Given the description of an element on the screen output the (x, y) to click on. 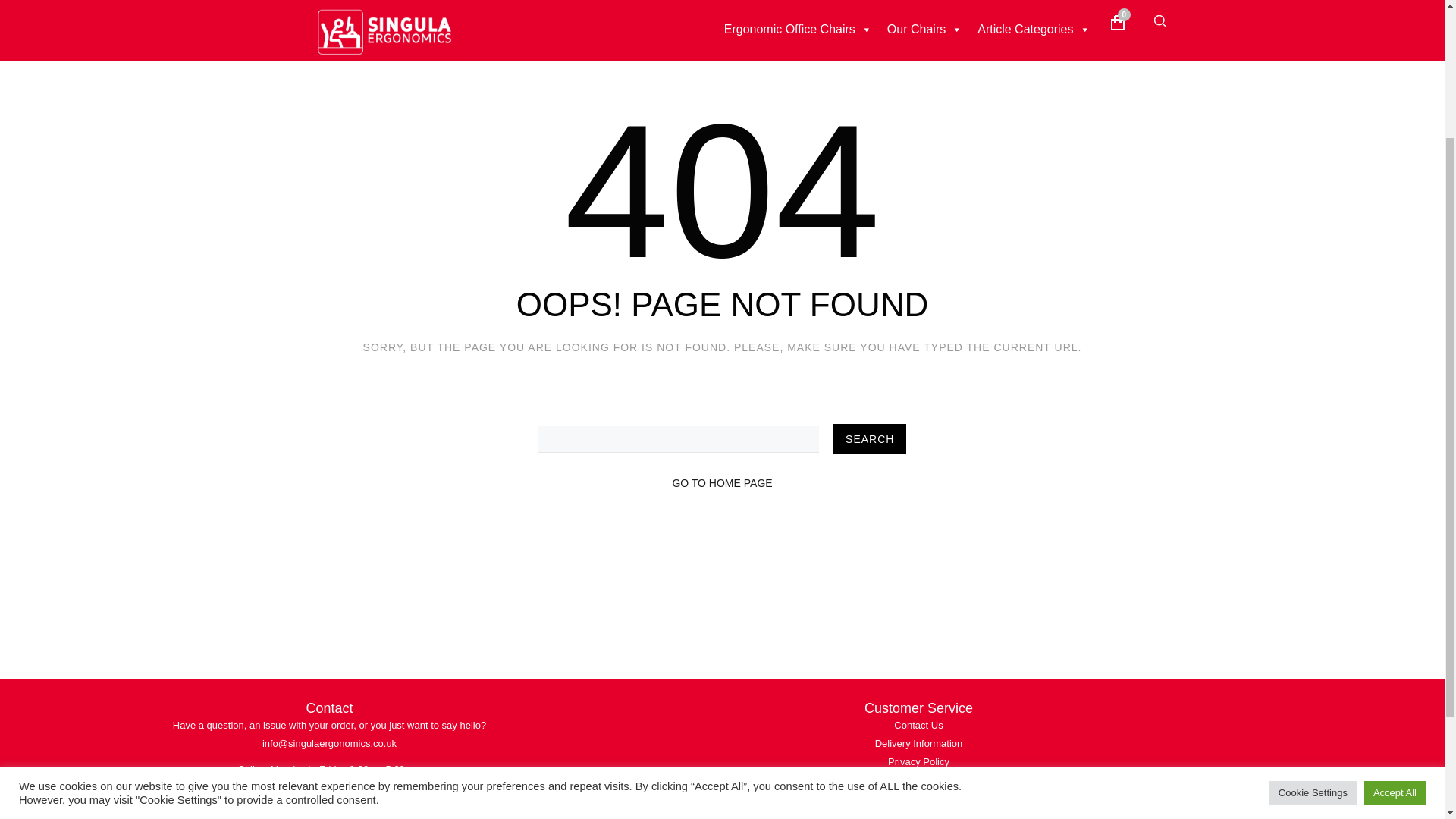
Search (868, 439)
Contact Us (917, 725)
Search (868, 439)
Cookie Settings (1312, 612)
Refund and Returns Policy (918, 779)
Delivery Information (918, 743)
Accept All (1394, 612)
Product Warranty (918, 797)
Privacy Policy (918, 761)
GO TO HOME PAGE (721, 482)
